Given the description of an element on the screen output the (x, y) to click on. 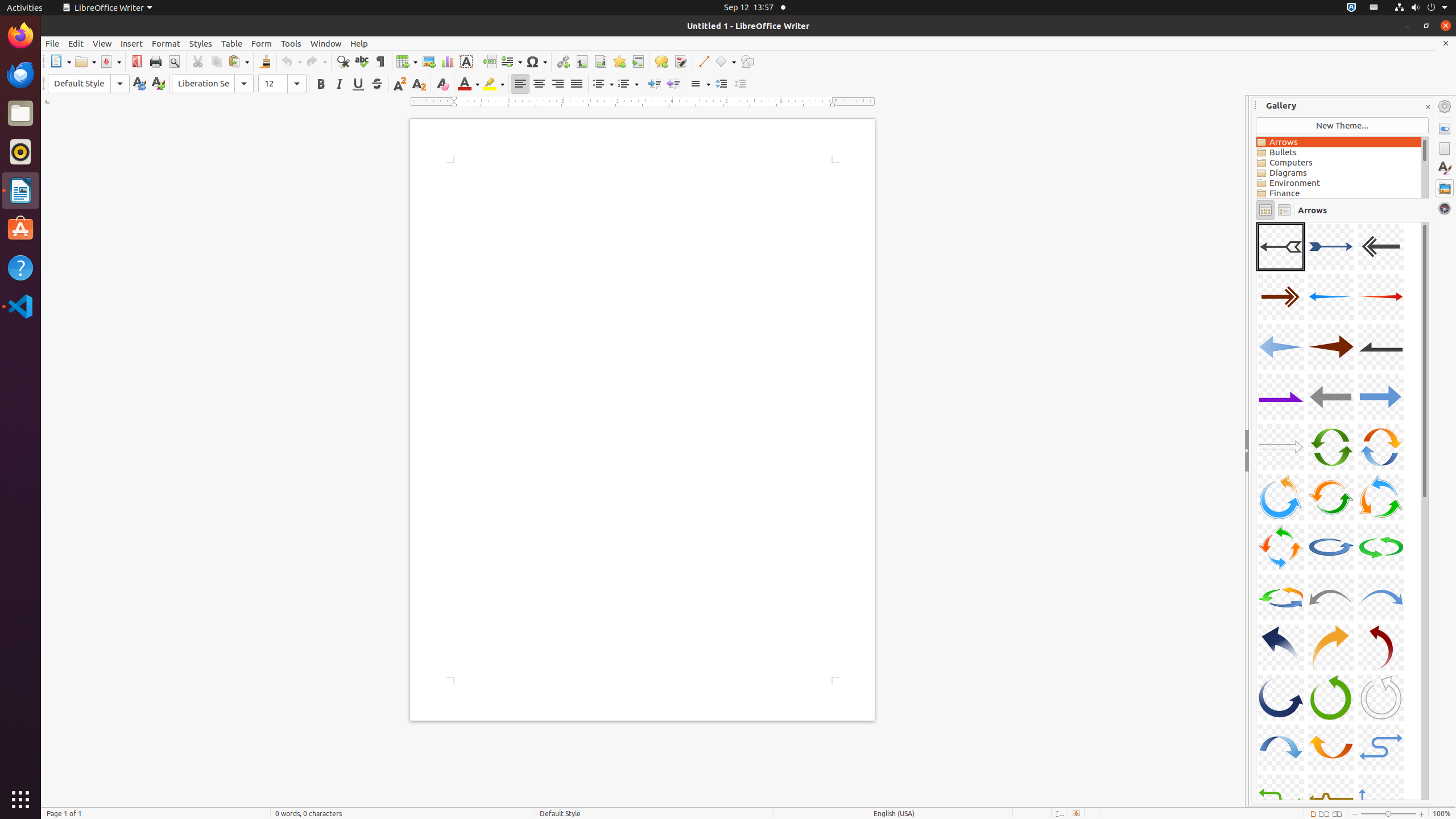
A34-CurvedArrow-Green-TwoDirections Element type: list-item (1256, 222)
Justified Element type: toggle-button (576, 83)
Track Changes Functions Element type: toggle-button (679, 61)
New Element type: push-button (157, 83)
A30-CurvedArrow-Gray Element type: list-item (1380, 696)
